Given the description of an element on the screen output the (x, y) to click on. 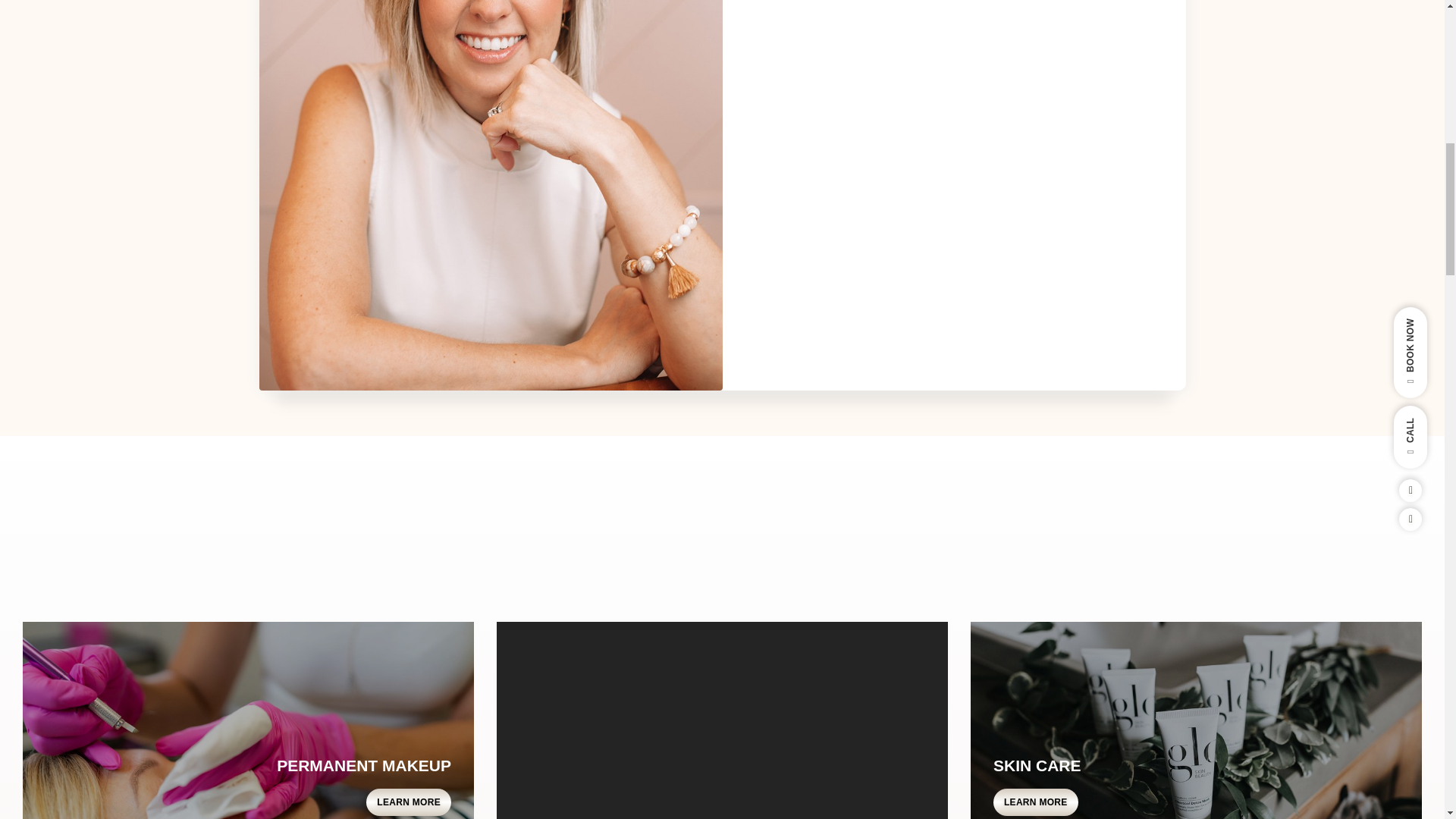
pmu (248, 720)
LEARN MORE (1035, 801)
glo9 (1196, 720)
LEARN MORE (408, 801)
